Given the description of an element on the screen output the (x, y) to click on. 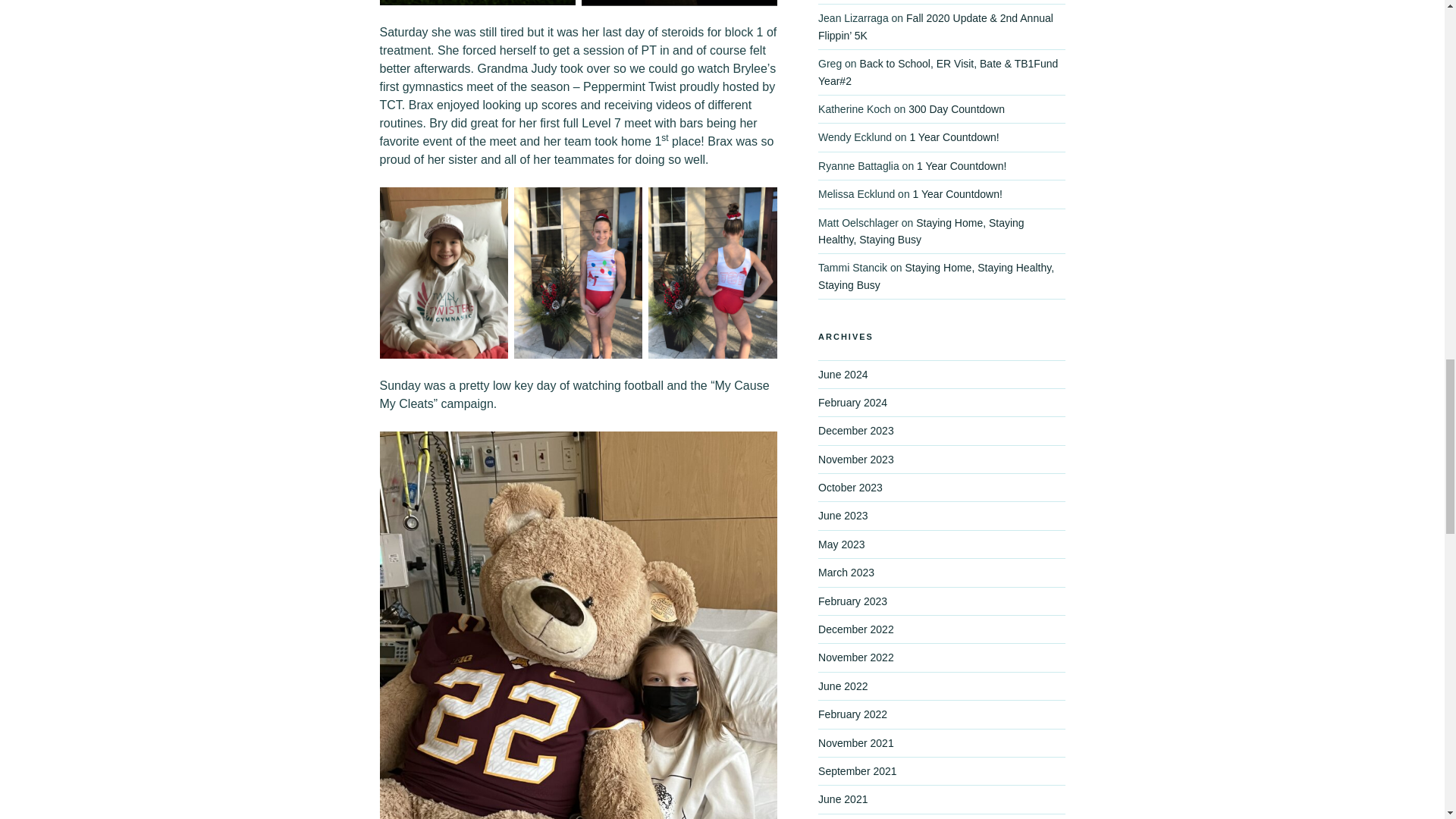
300 Day Countdown (956, 109)
